Given the description of an element on the screen output the (x, y) to click on. 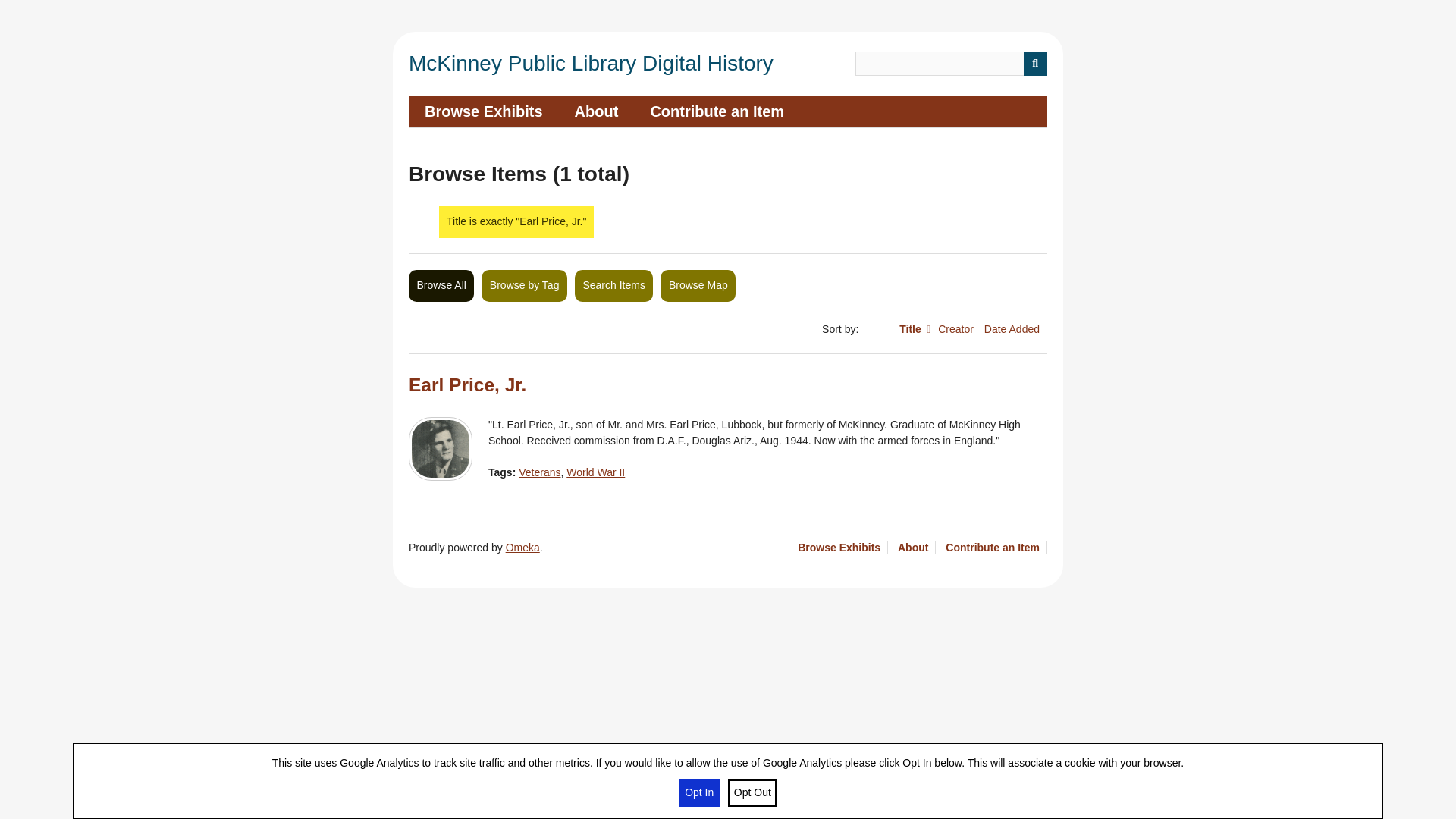
McKinney Public Library Digital History (591, 63)
Contribute an Item (716, 111)
Earl Price, Jr. (467, 384)
Contribute an Item (995, 547)
Browse All (441, 286)
World War II (595, 472)
Omeka (522, 547)
Title (914, 328)
Creator (956, 328)
About (917, 547)
